Given the description of an element on the screen output the (x, y) to click on. 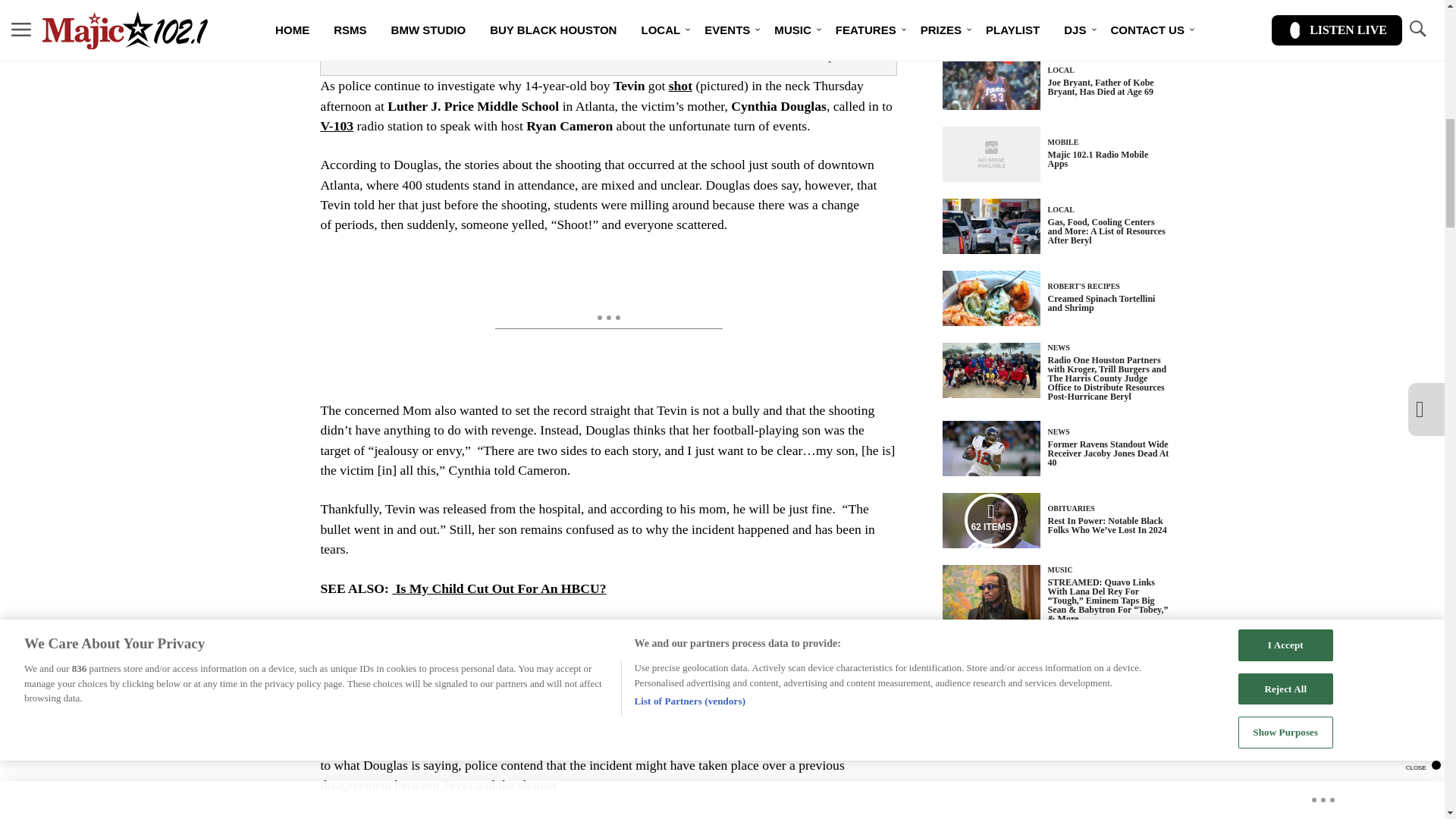
Media Playlist (990, 520)
